Given the description of an element on the screen output the (x, y) to click on. 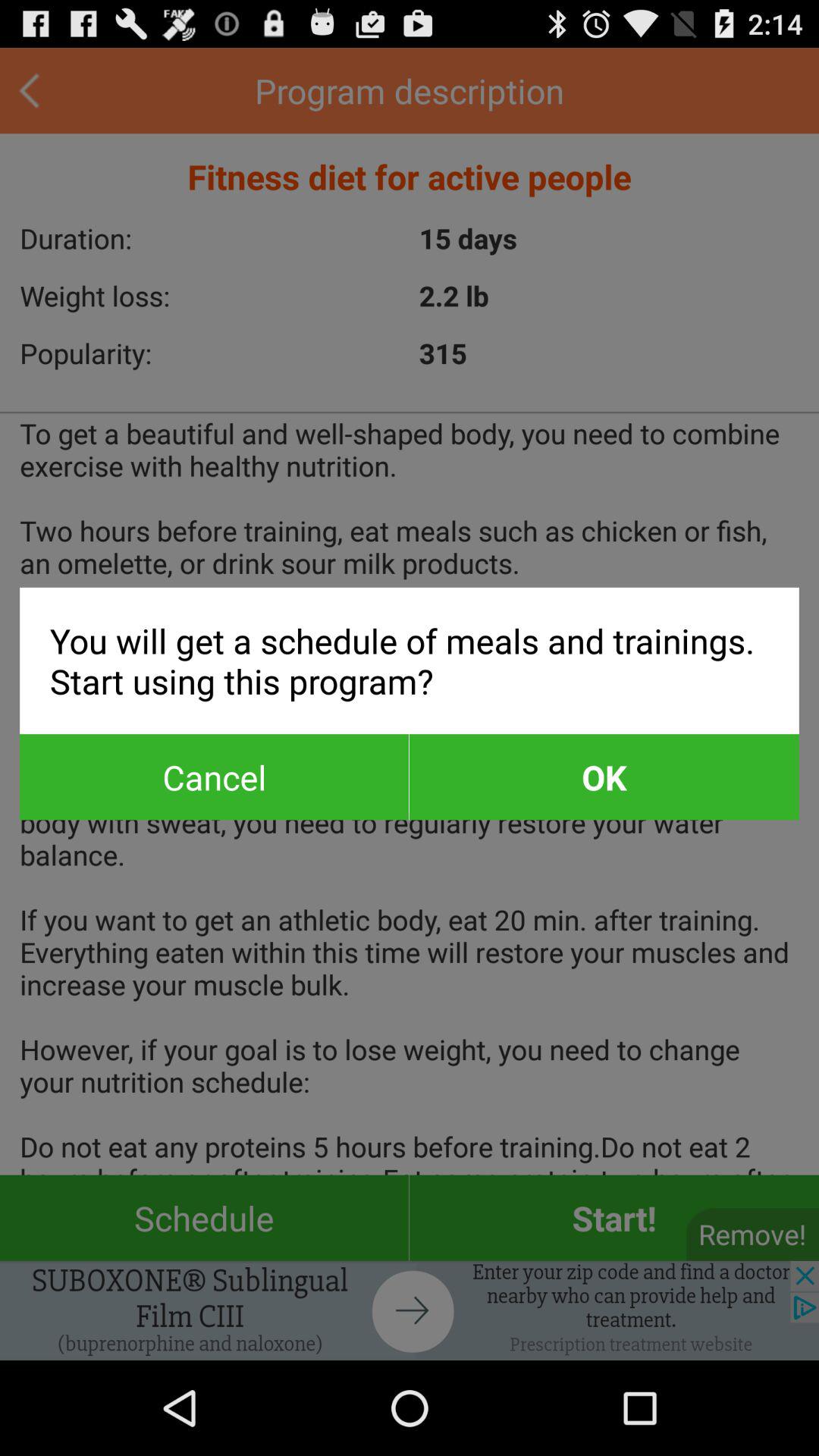
press cancel icon (213, 777)
